Given the description of an element on the screen output the (x, y) to click on. 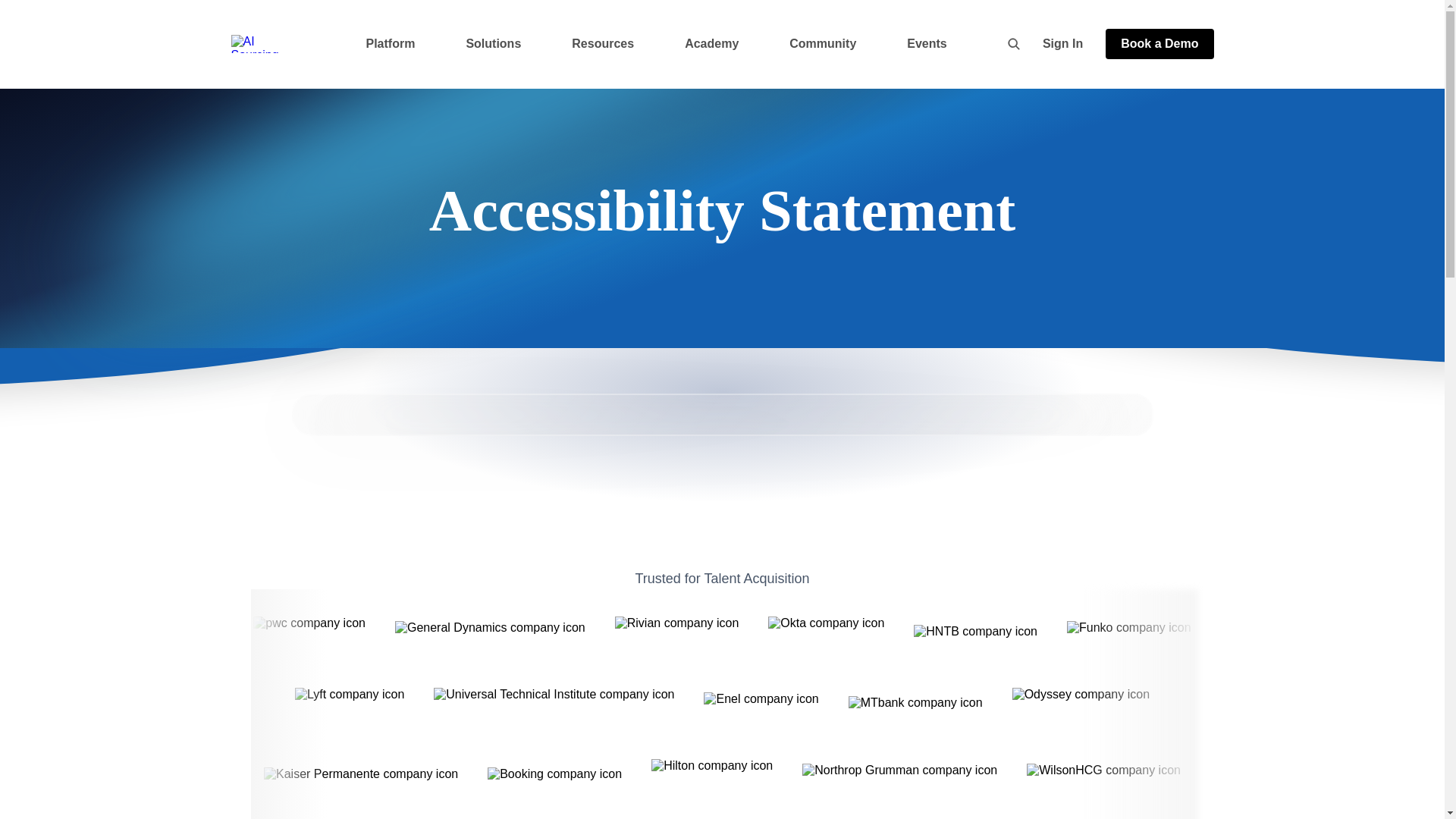
Events (931, 43)
Academy (715, 43)
Sign In (1062, 44)
Community (827, 43)
Book a Demo (1158, 43)
